Given the description of an element on the screen output the (x, y) to click on. 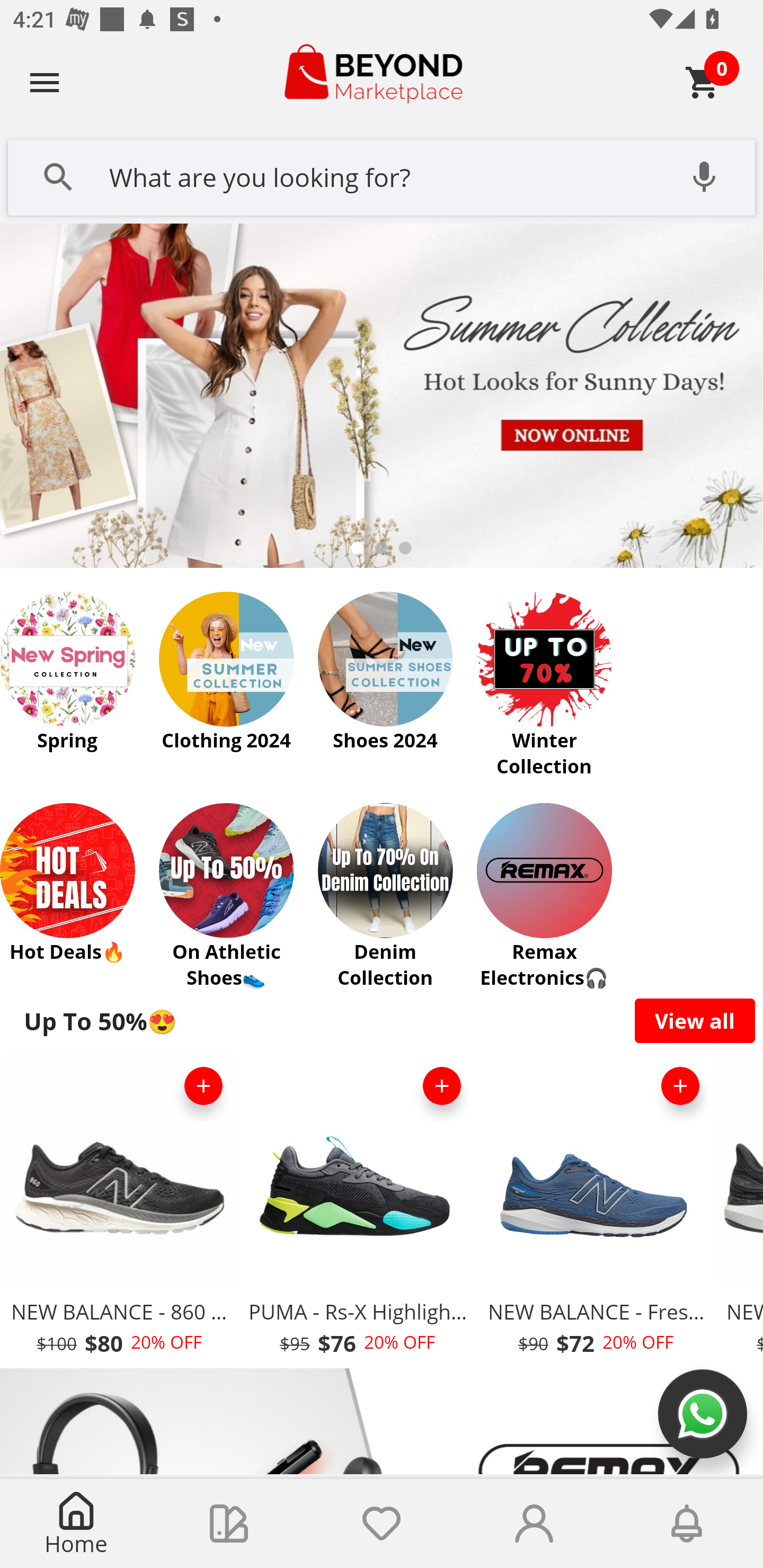
Navigate up (44, 82)
What are you looking for? (381, 175)
View all (694, 1020)
NEW BALANCE - 860 Running Shoes $100 $80 20% OFF (119, 1209)
Collections (228, 1523)
Wishlist (381, 1523)
Account (533, 1523)
Notifications (686, 1523)
